Given the description of an element on the screen output the (x, y) to click on. 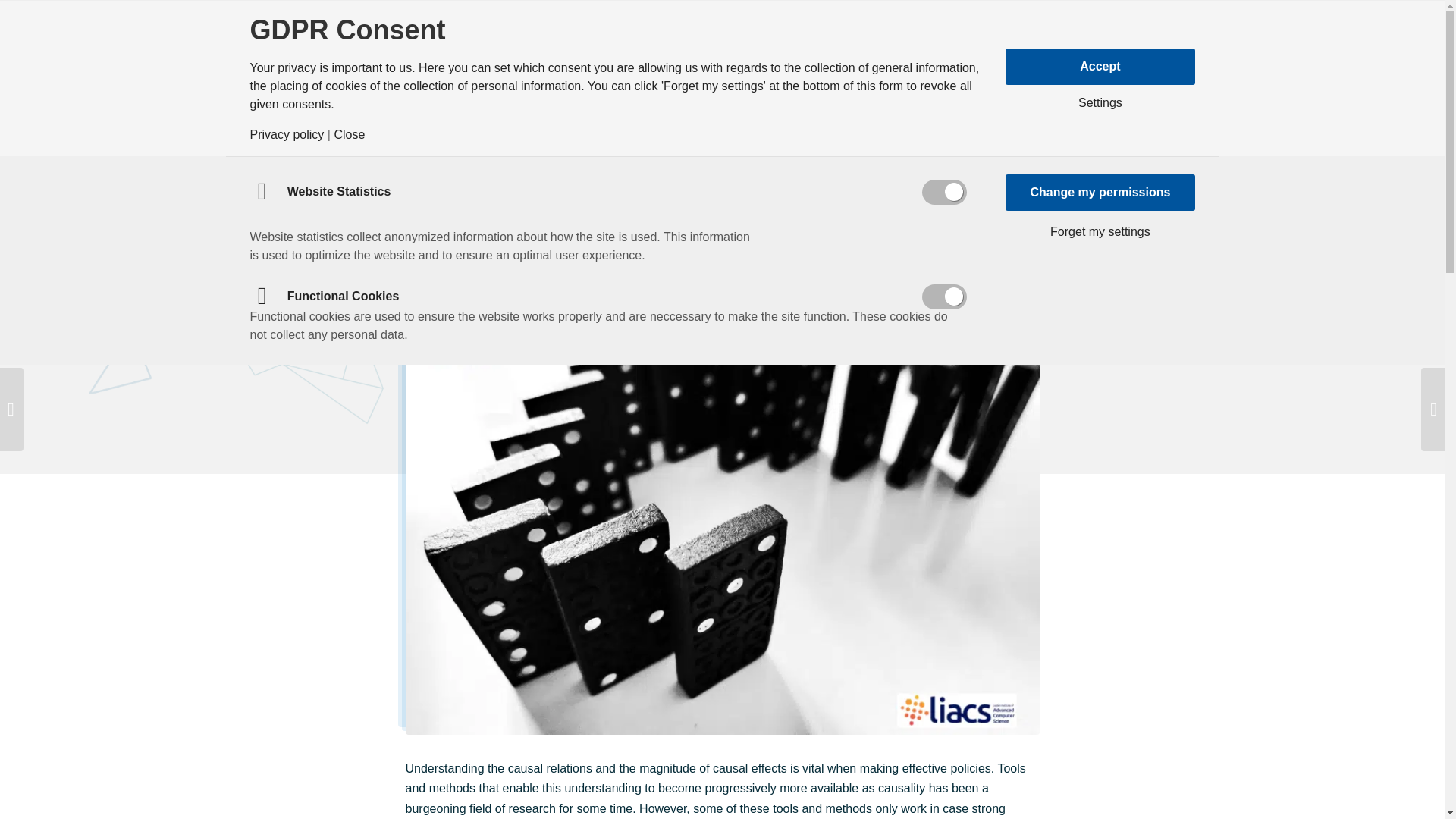
News (627, 30)
HCSS Datalab (741, 30)
Services (863, 30)
Research (525, 30)
Home (429, 30)
